Given the description of an element on the screen output the (x, y) to click on. 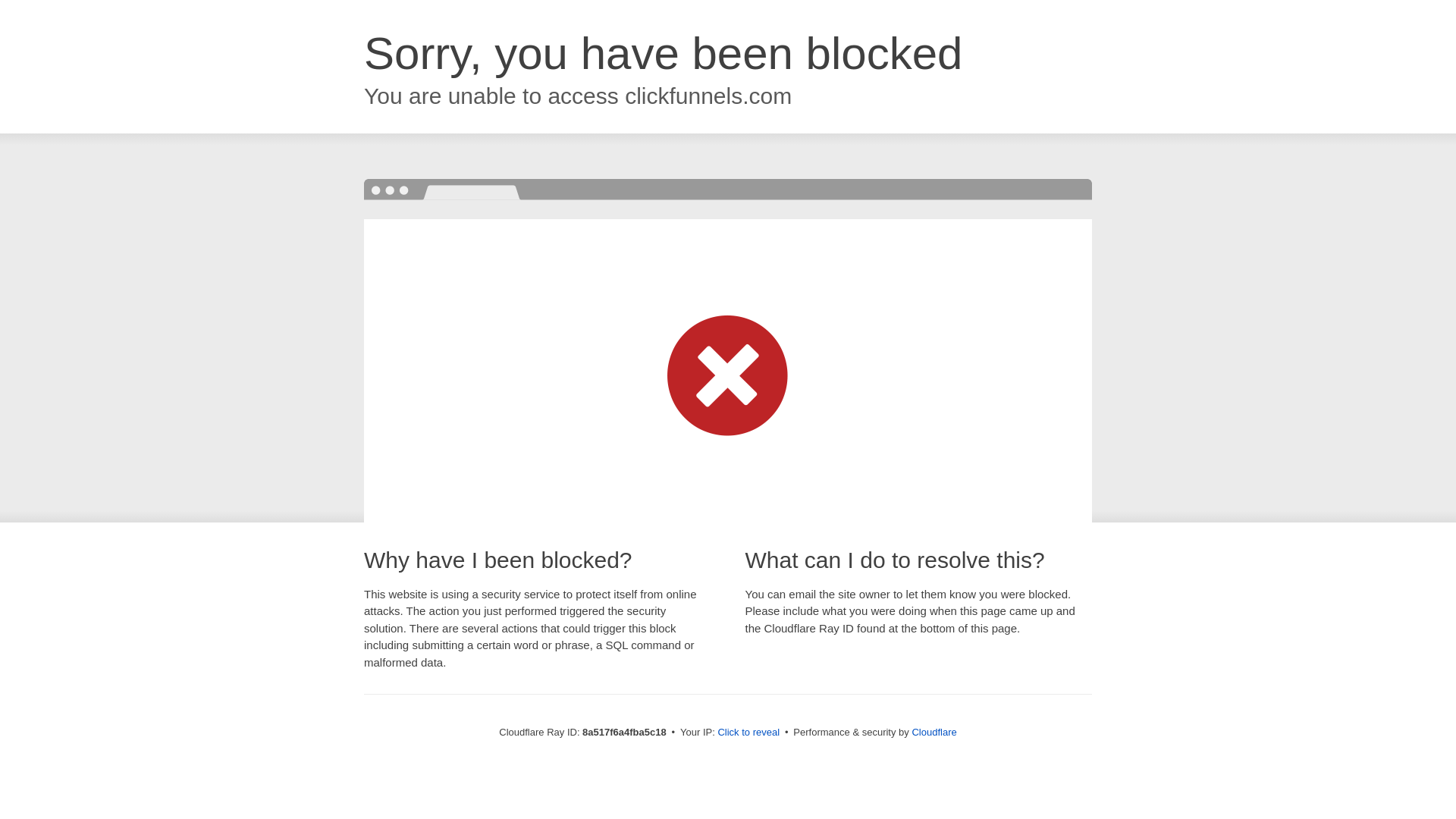
Click to reveal (747, 732)
Cloudflare (933, 731)
